Given the description of an element on the screen output the (x, y) to click on. 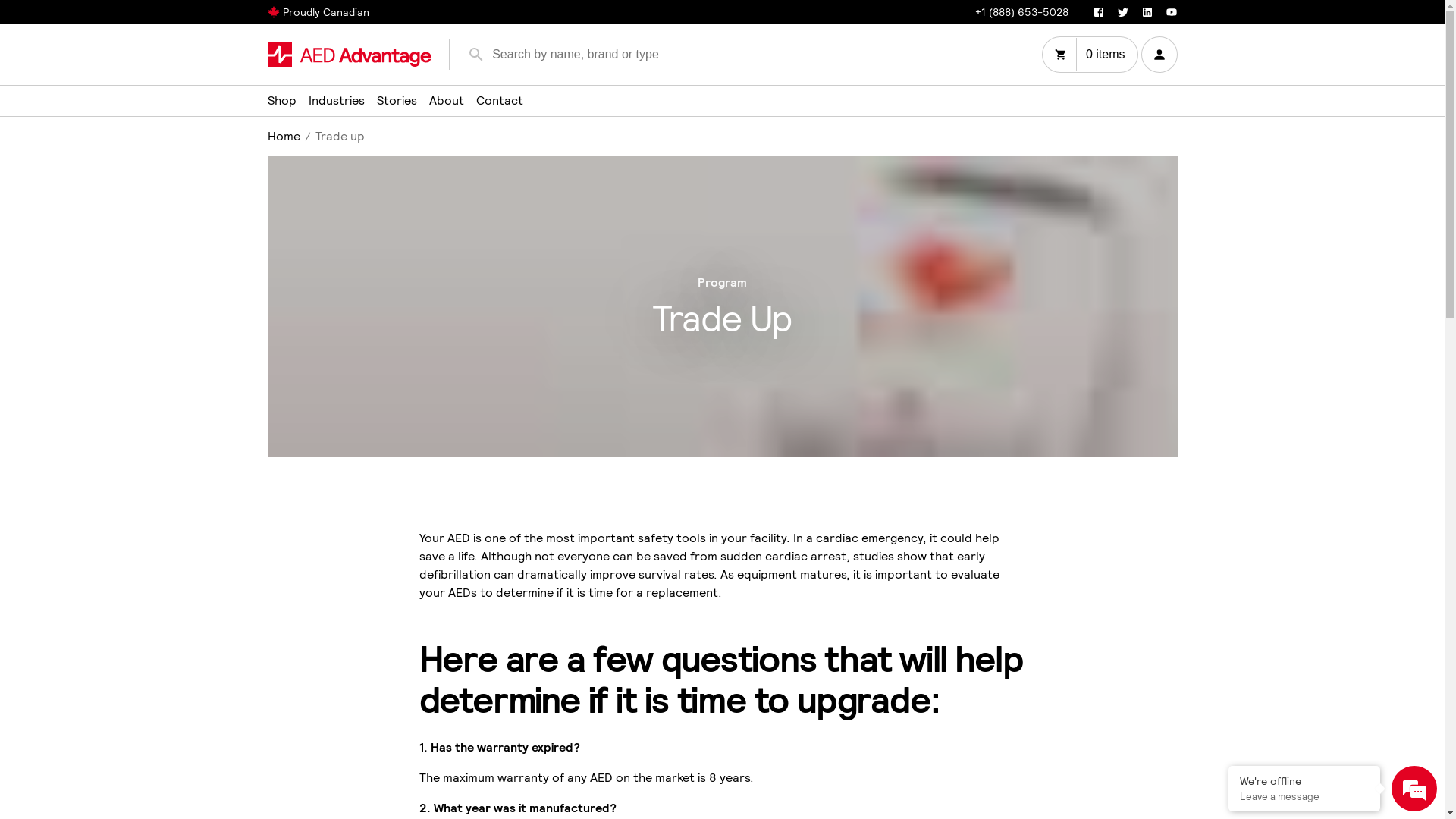
Facebook Element type: hover (1097, 12)
Contact Element type: text (499, 100)
About Element type: text (446, 100)
Twitter Element type: hover (1122, 12)
AED Advantage Element type: text (348, 54)
Stories Element type: text (396, 100)
YouTube Element type: hover (1170, 12)
Shop Element type: text (280, 100)
0 items Element type: text (1089, 54)
LinkedIn Element type: hover (1146, 12)
+1 (888) 653-5028 Element type: text (1021, 11)
Industries Element type: text (335, 100)
Home Element type: text (282, 136)
